Given the description of an element on the screen output the (x, y) to click on. 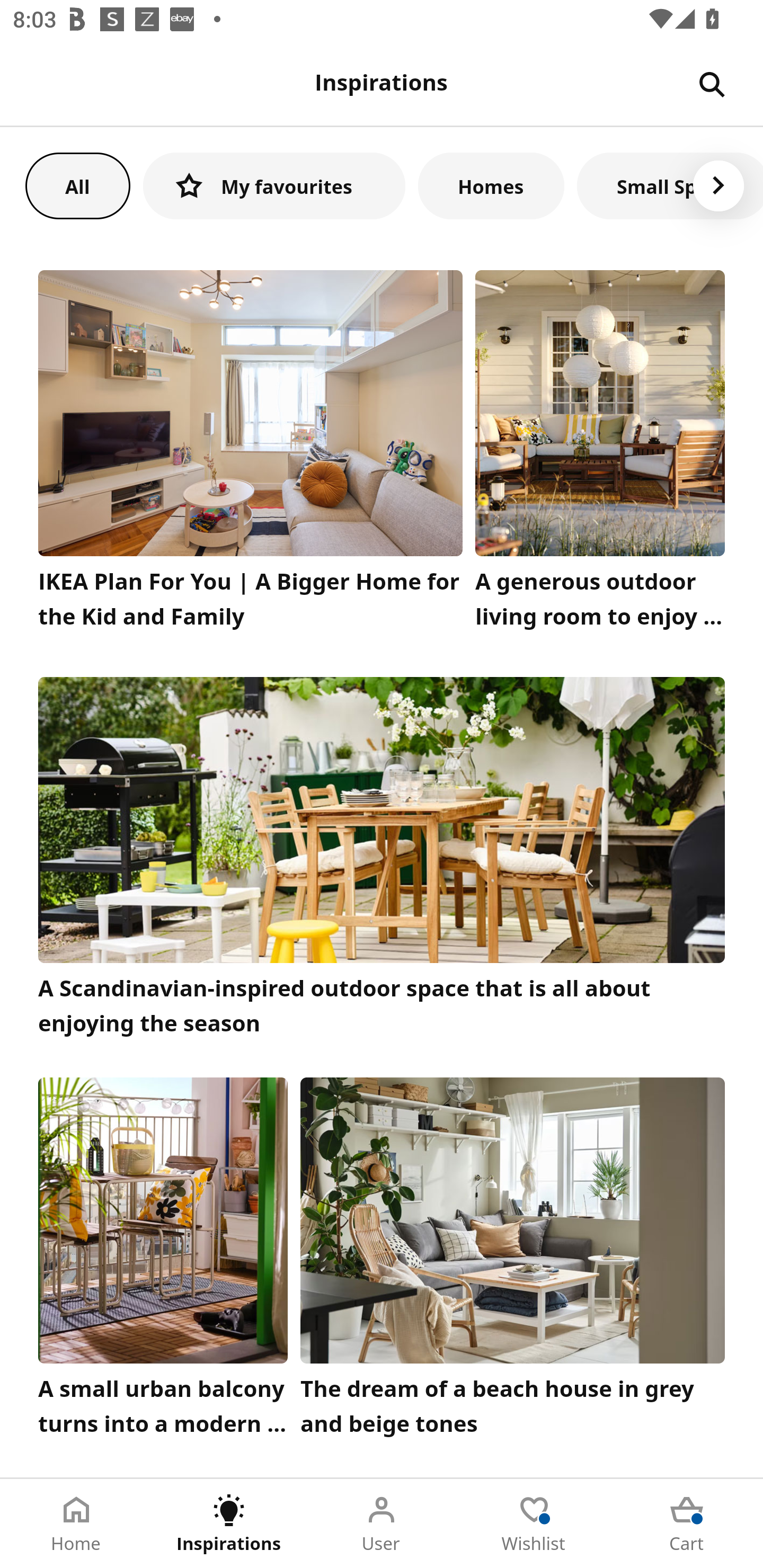
All (77, 185)
My favourites (274, 185)
Homes (491, 185)
The dream of a beach house in grey and beige tones (512, 1261)
Home
Tab 1 of 5 (76, 1522)
Inspirations
Tab 2 of 5 (228, 1522)
User
Tab 3 of 5 (381, 1522)
Wishlist
Tab 4 of 5 (533, 1522)
Cart
Tab 5 of 5 (686, 1522)
